Given the description of an element on the screen output the (x, y) to click on. 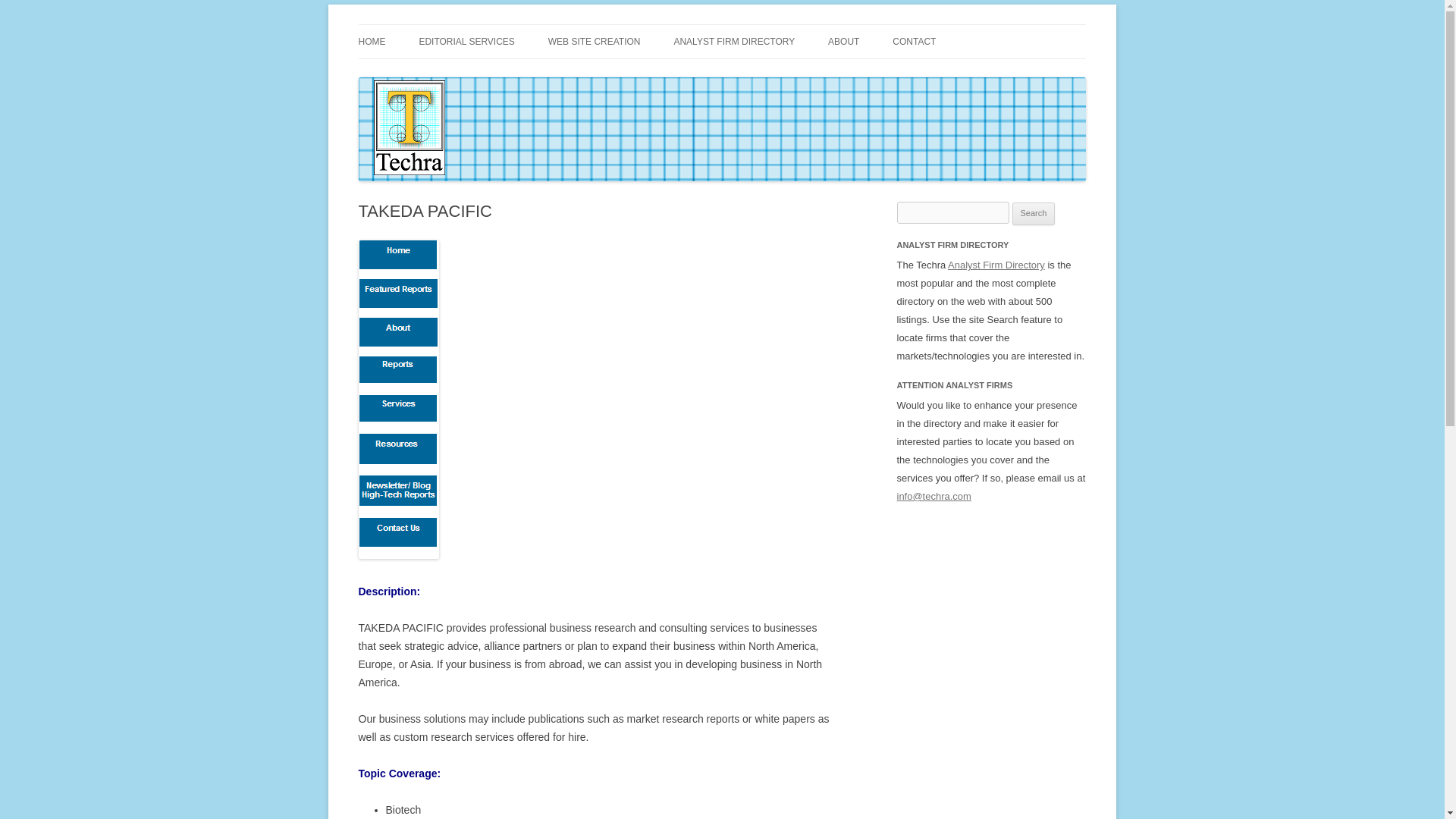
EDITORIAL SERVICES (467, 41)
ABOUT (843, 41)
Techra.com (412, 23)
Skip to content (757, 29)
Analyst Firm Directory (996, 265)
Techra.com (412, 23)
CONTACT (914, 41)
Skip to content (757, 29)
WEB SITE CREATION (594, 41)
Search (1033, 213)
Search (1033, 213)
ANALYST FIRM DIRECTORY (733, 41)
